Given the description of an element on the screen output the (x, y) to click on. 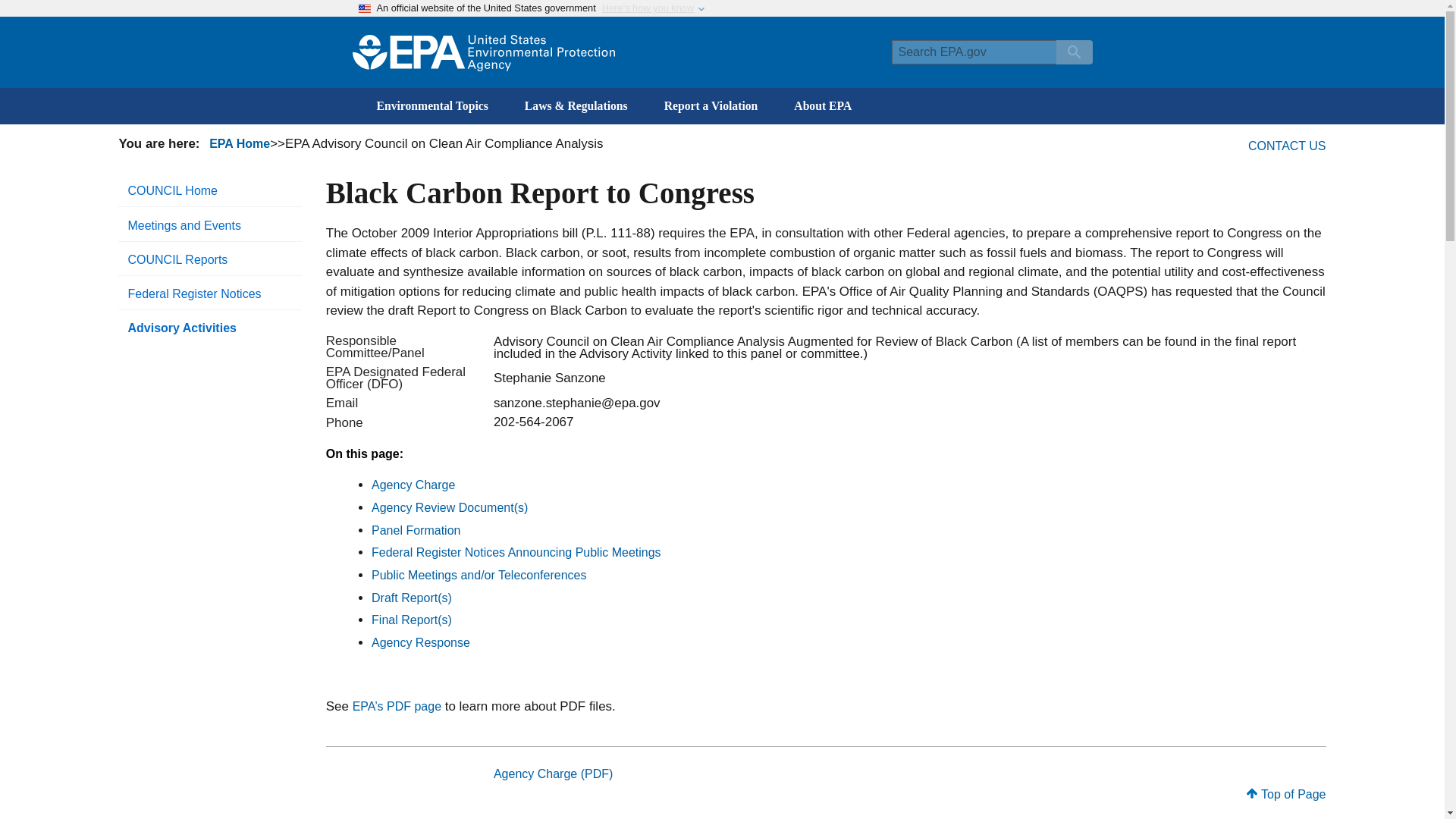
Panel Formation (415, 530)
CONTACT US (1286, 145)
Federal Register Notices (209, 294)
Federal Register Notices Announcing Public Meetings (516, 552)
EPA Home (239, 143)
Report a Violation (711, 105)
Environmental Topics (431, 105)
Meetings and Events (209, 225)
Top of Page (1285, 793)
COUNCIL Reports (209, 259)
Agency Response (420, 642)
COUNCIL Home (209, 191)
Advisory Activities (209, 327)
About EPA (822, 105)
On this page: (364, 453)
